Given the description of an element on the screen output the (x, y) to click on. 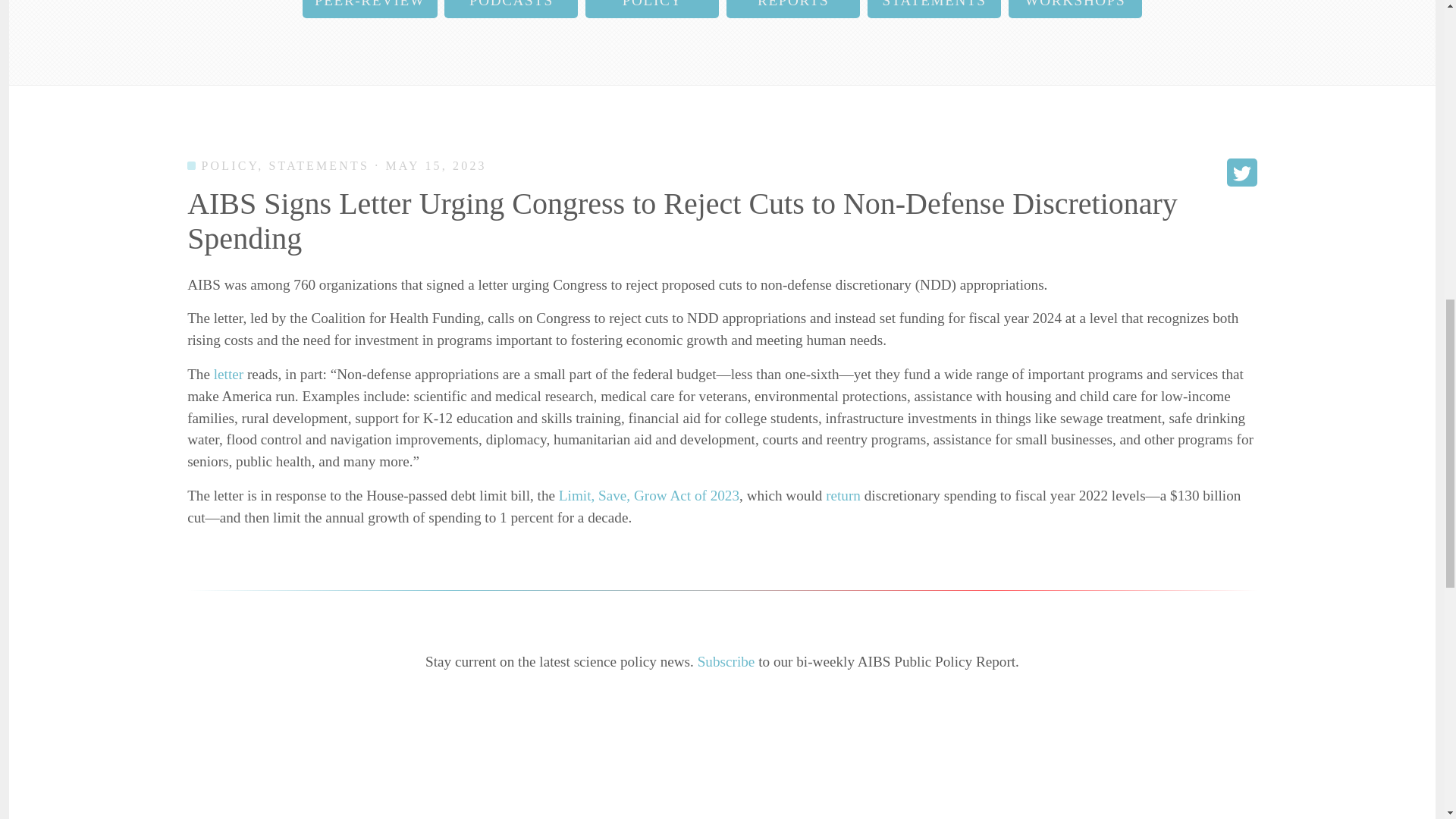
WORKSHOPS (1075, 9)
Limit, Save, Grow Act of 2023 (649, 495)
return (842, 495)
letter (228, 374)
STATEMENTS (934, 9)
Share on Twitter (1242, 172)
REPORTS (793, 9)
Subscribe (726, 661)
PEER-REVIEW (370, 9)
POLICY (652, 9)
